Given the description of an element on the screen output the (x, y) to click on. 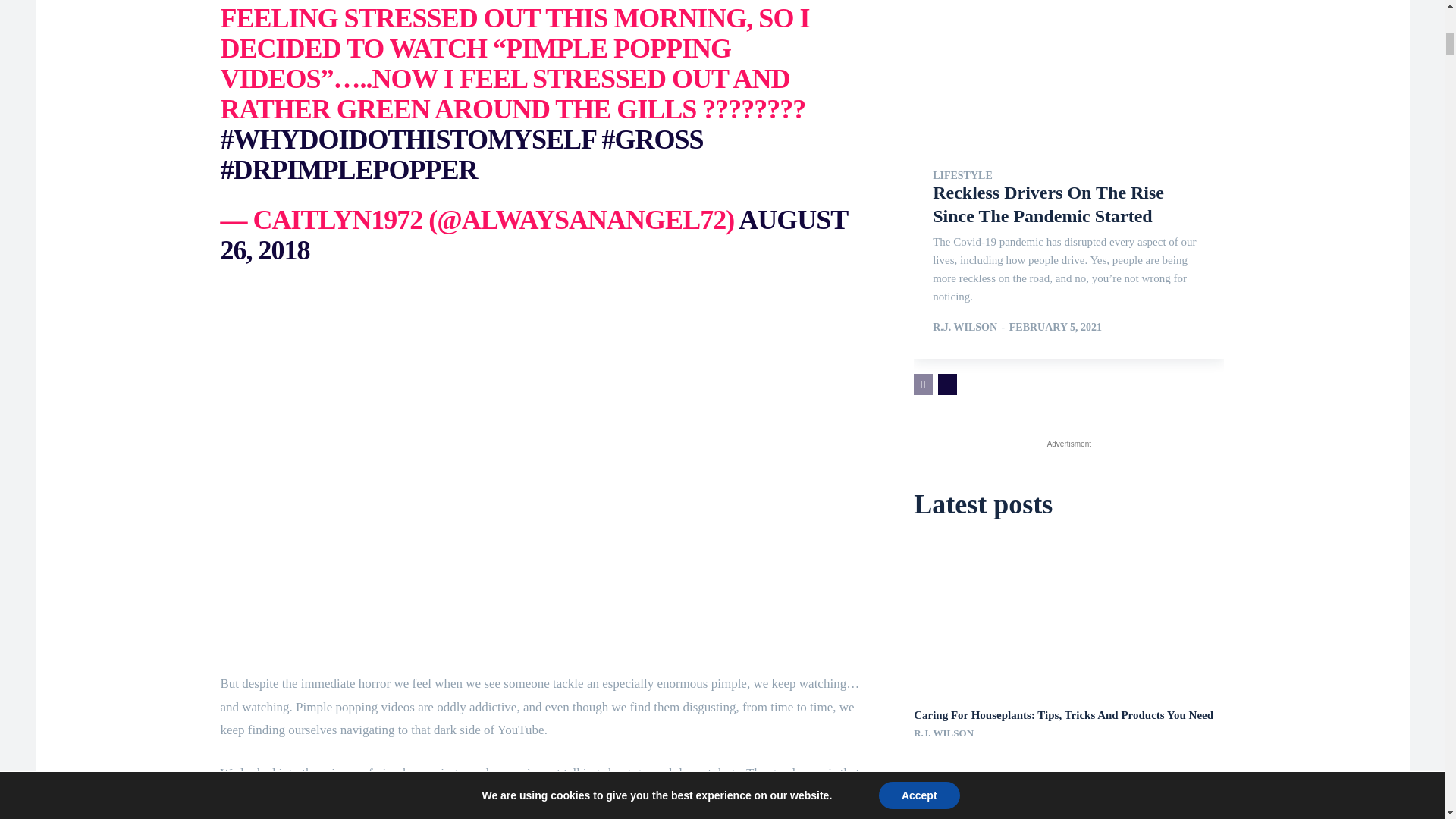
AUGUST 26, 2018 (533, 234)
Reckless Drivers On The Rise Since The Pandemic Started (1069, 72)
